Given the description of an element on the screen output the (x, y) to click on. 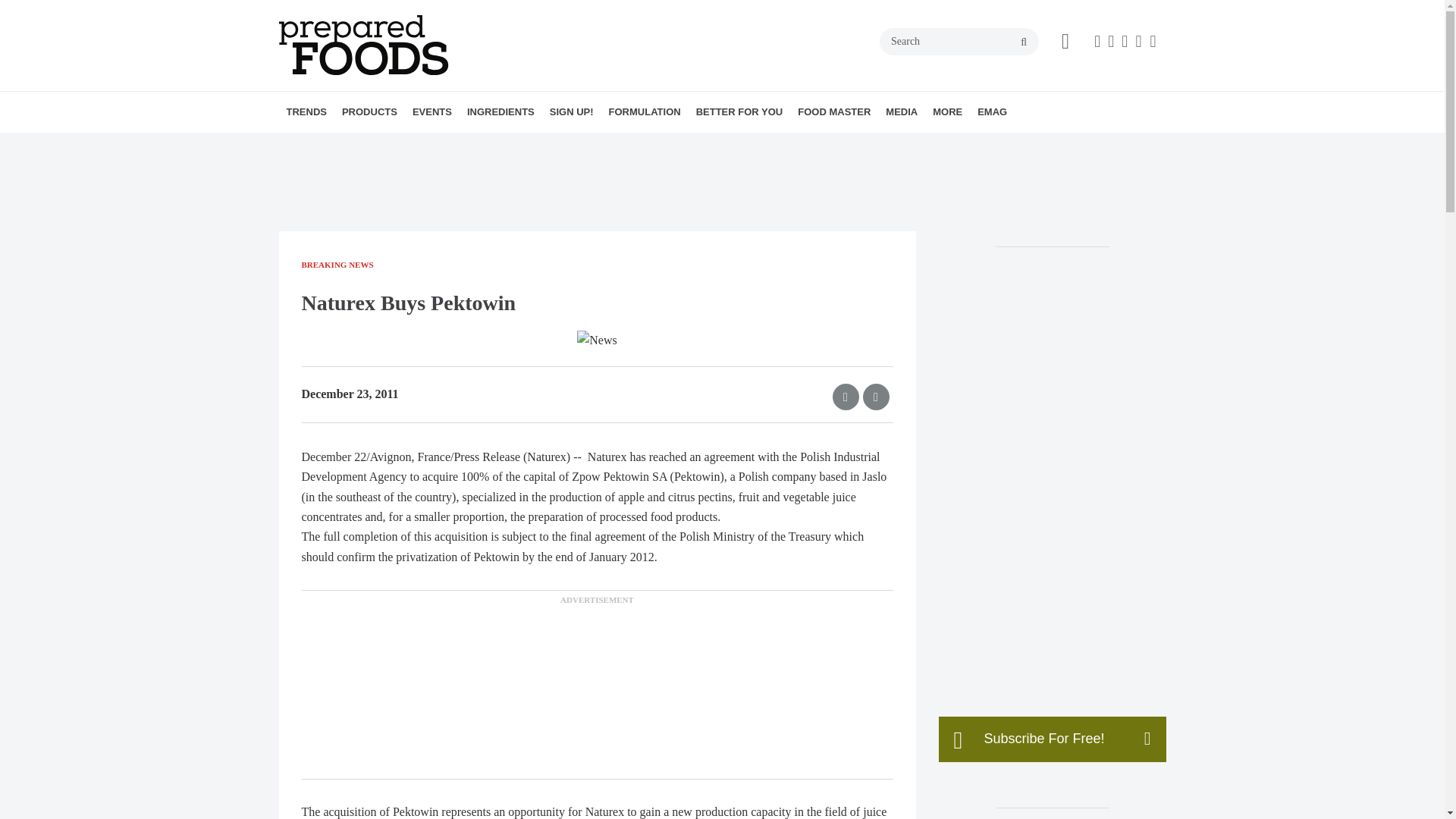
PRODUCTS (369, 111)
CANNABIS (452, 145)
search (1023, 42)
2023 TRENDS (380, 145)
Search (959, 41)
SPIRIT OF INNOVATION AWARDS (506, 145)
BAKERY (429, 145)
CANDY (448, 145)
DAIRY (456, 145)
2024 TRENDS (373, 145)
EVENTS (432, 111)
INDUSTRY EVENTS (513, 145)
NEW PRODUCTS CONFERENCE (499, 145)
FEATURED PRODUCTS (474, 145)
INGREDIENTS (500, 111)
